Given the description of an element on the screen output the (x, y) to click on. 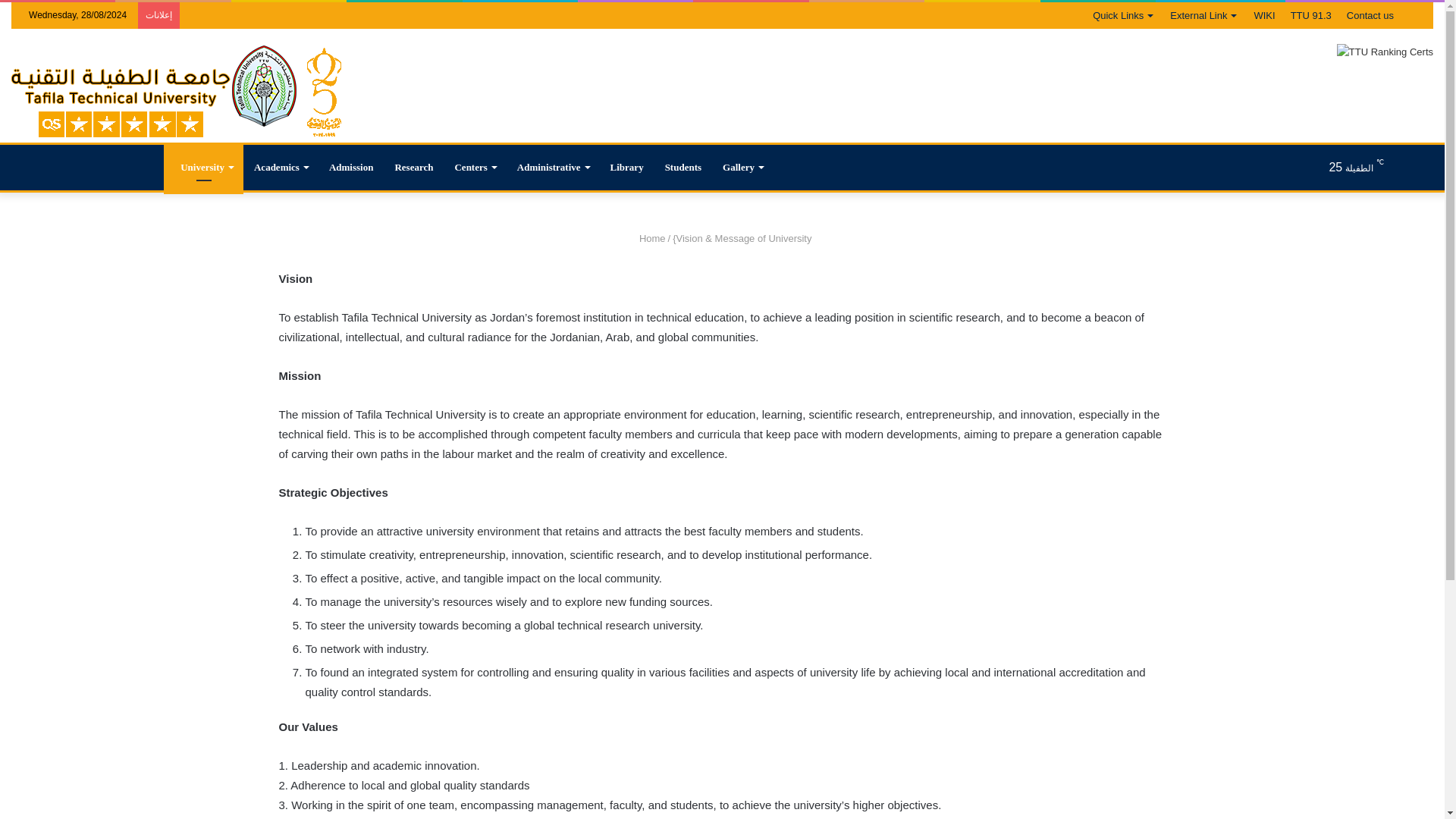
External Link (1203, 15)
TTU 91.3 (1310, 15)
Quick Links (1122, 15)
WIKI (1264, 15)
Wiki (1264, 15)
University (203, 167)
External Link (1203, 15)
TTU 91.3 (1310, 15)
Contact us (1369, 15)
Quick Links (1122, 15)
